Given the description of an element on the screen output the (x, y) to click on. 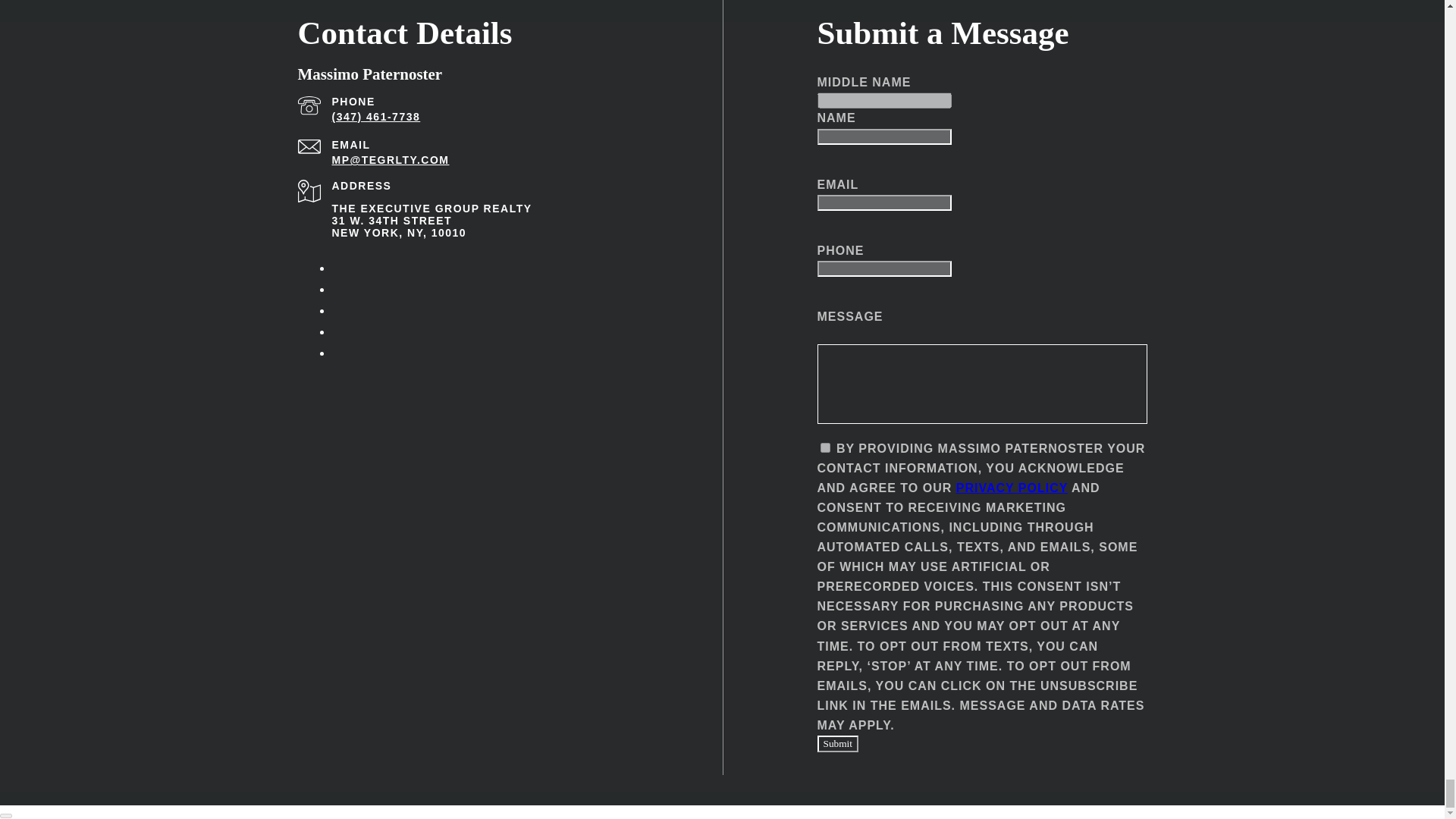
on (825, 447)
